Given the description of an element on the screen output the (x, y) to click on. 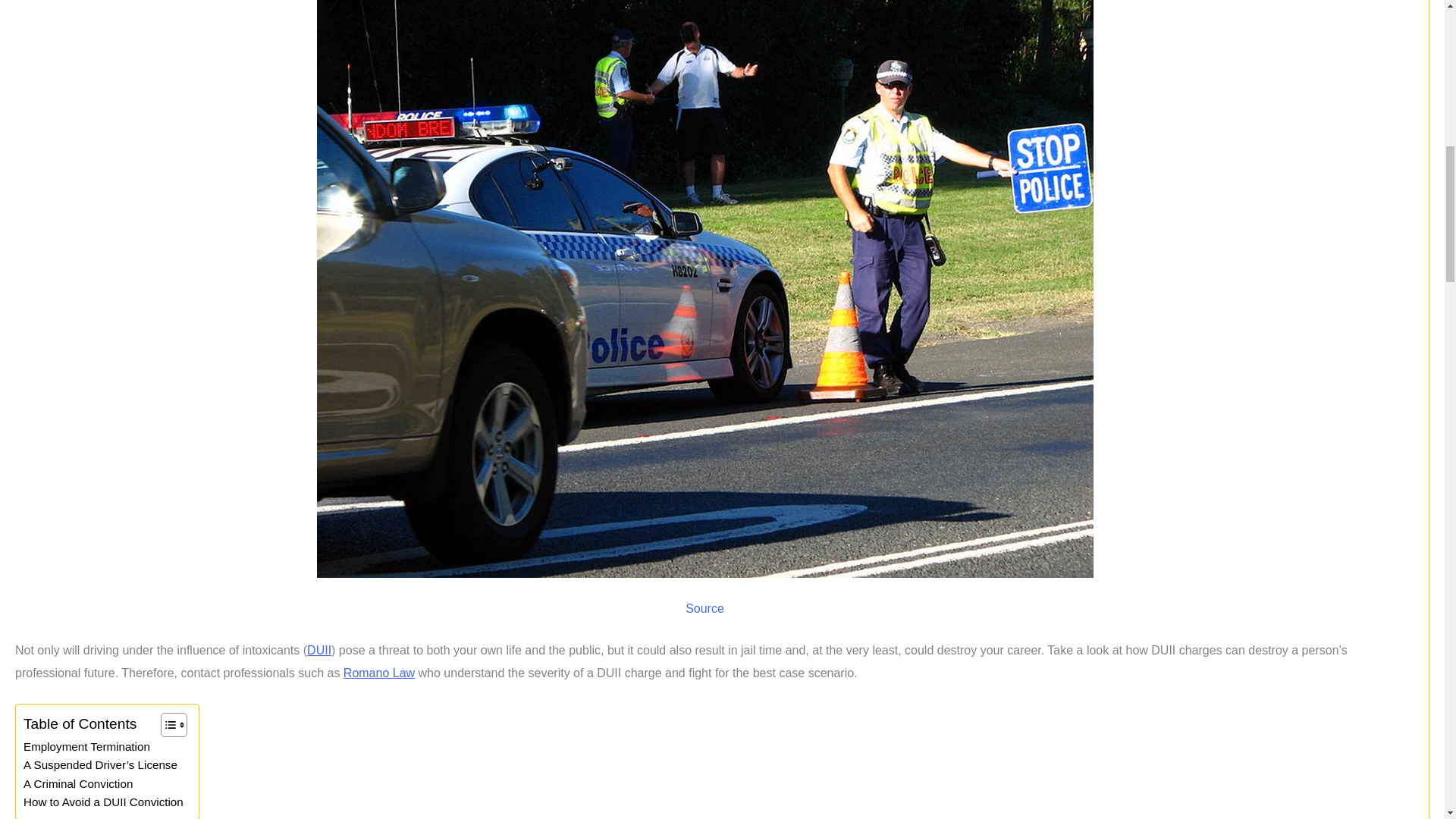
DUII (319, 649)
How to Avoid a DUII Conviction (103, 802)
A Criminal Conviction (77, 783)
Employment Termination (86, 746)
Employment Termination (86, 746)
Source (704, 608)
How to Avoid a DUII Conviction (103, 802)
Romano Law (378, 672)
A Criminal Conviction (77, 783)
